Given the description of an element on the screen output the (x, y) to click on. 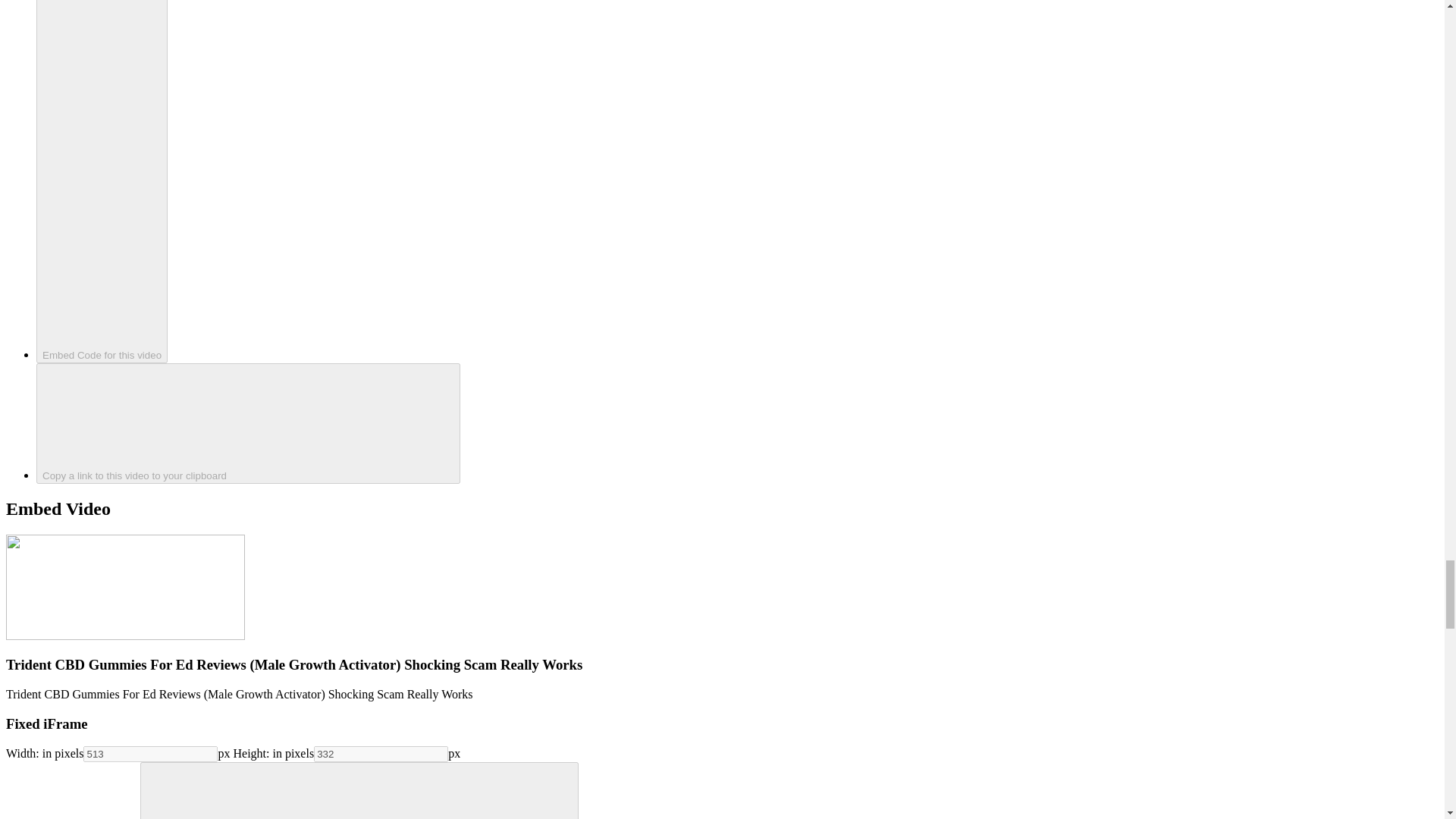
513 (149, 754)
332 (381, 754)
Link (248, 423)
